Given the description of an element on the screen output the (x, y) to click on. 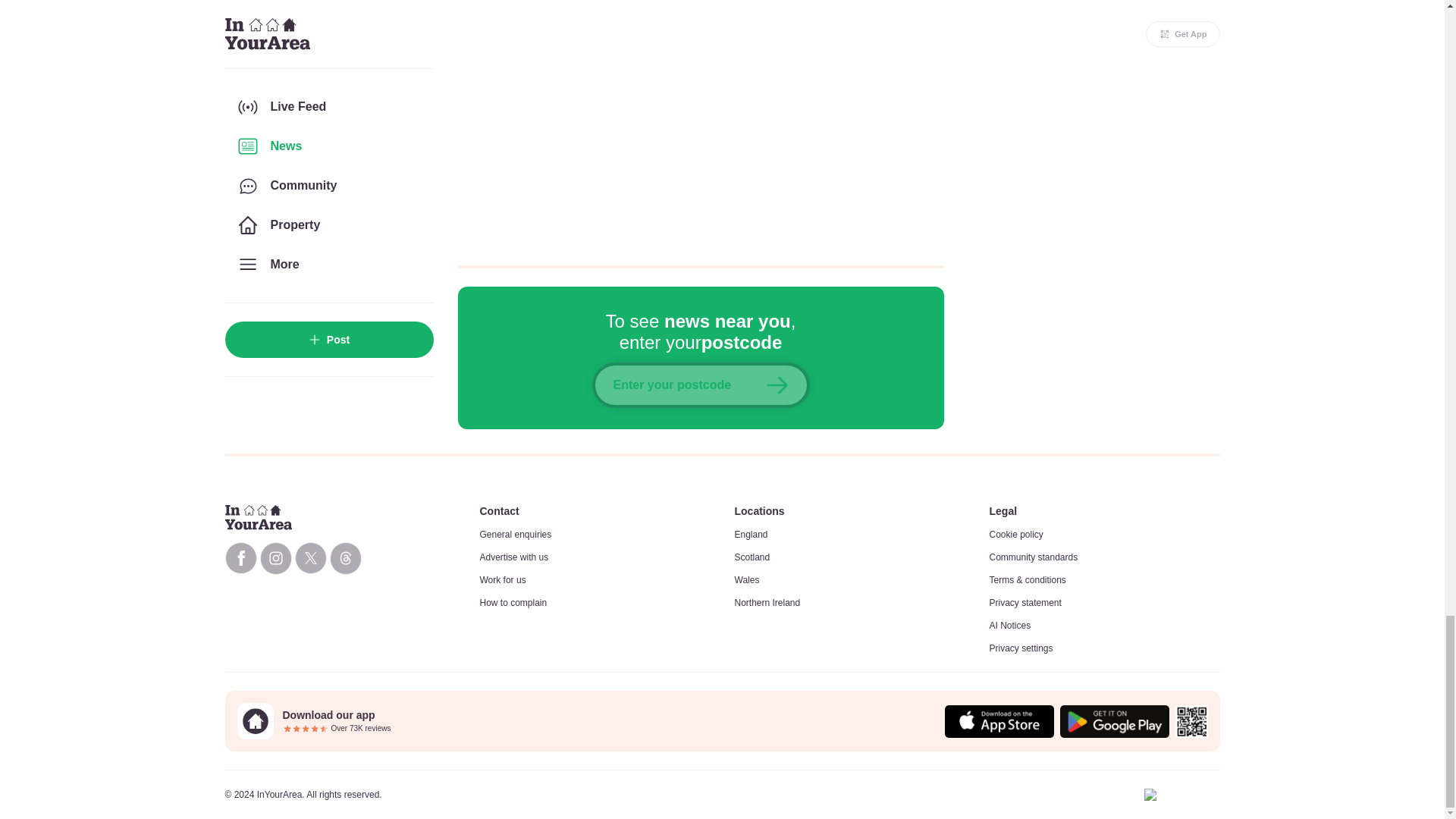
InYourArea Facebook (240, 558)
InYourArea Threads (345, 558)
InYourArea Instagram (275, 558)
comments (701, 122)
InYourArea X (310, 558)
